Given the description of an element on the screen output the (x, y) to click on. 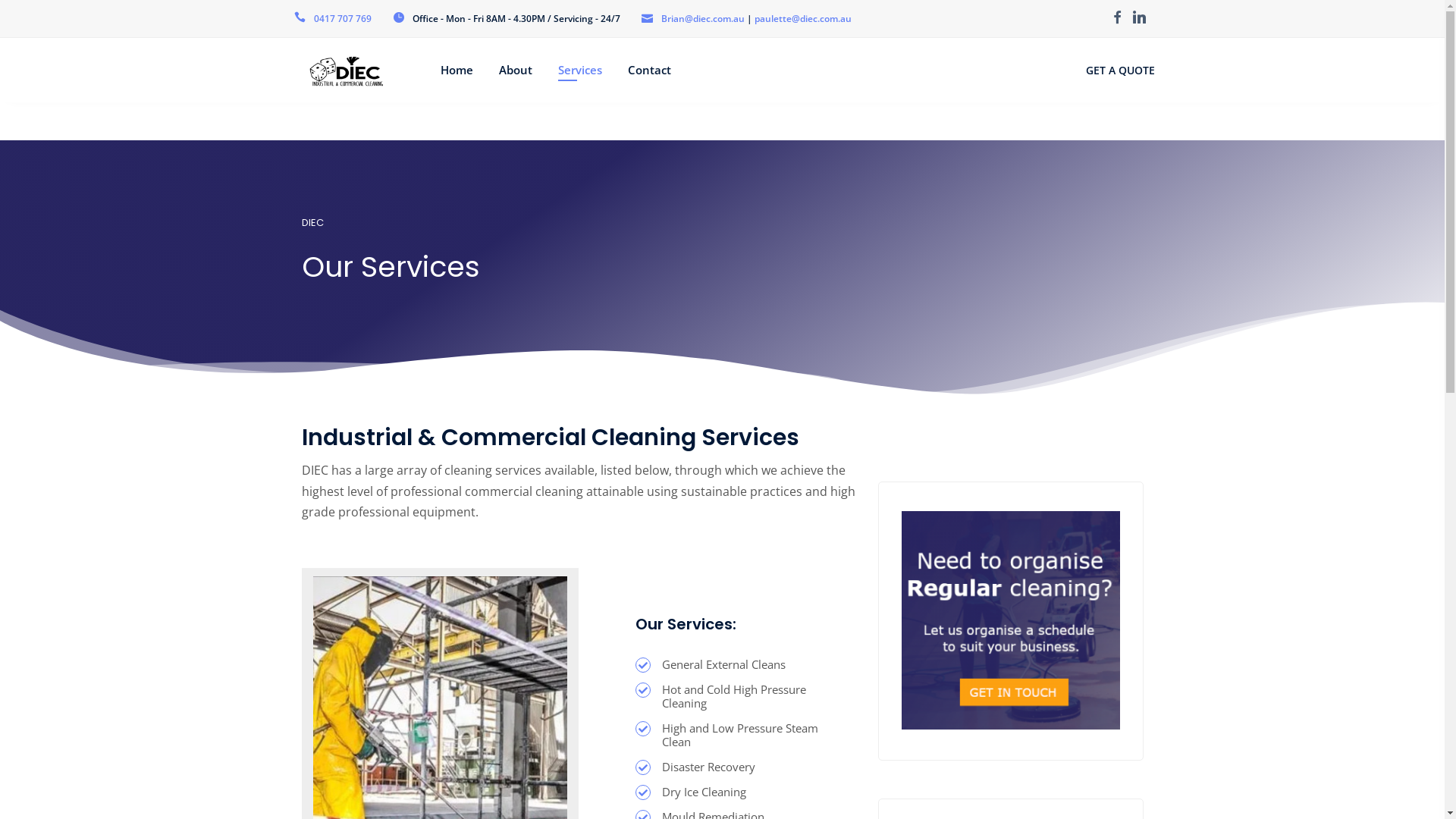
0417 707 769 Element type: text (342, 18)
GET A QUOTE Element type: text (1119, 69)
Home Element type: text (456, 69)
Services Element type: text (580, 69)
Brian@diec.com.au Element type: text (702, 18)
About Element type: text (515, 69)
paulette@diec.com.au Element type: text (801, 18)
Contact Element type: text (649, 69)
